Given the description of an element on the screen output the (x, y) to click on. 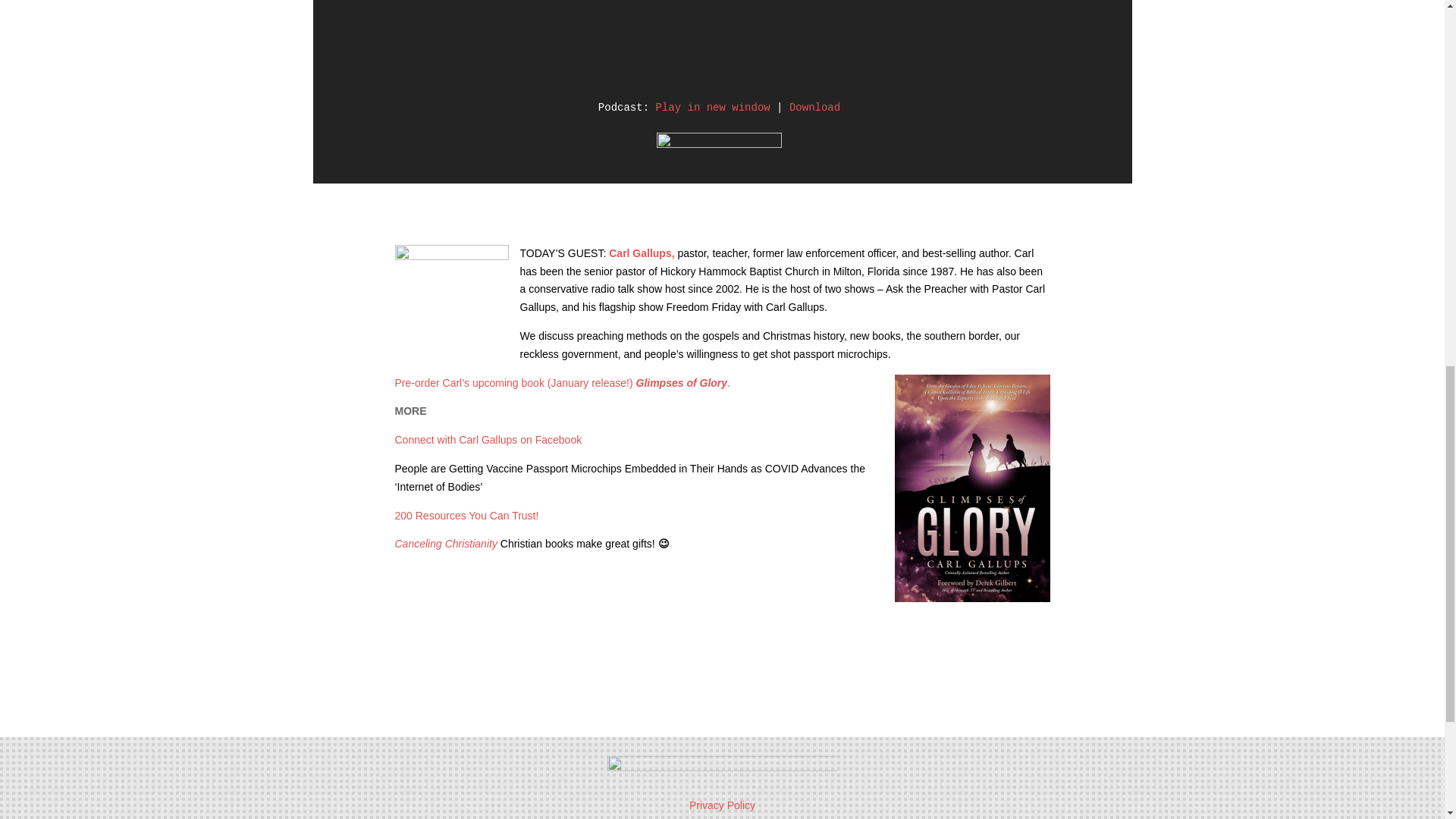
Download (814, 107)
Download (814, 107)
Play in new window (712, 107)
Play in new window (712, 107)
Blubrry Podcast Player (719, 46)
